Given the description of an element on the screen output the (x, y) to click on. 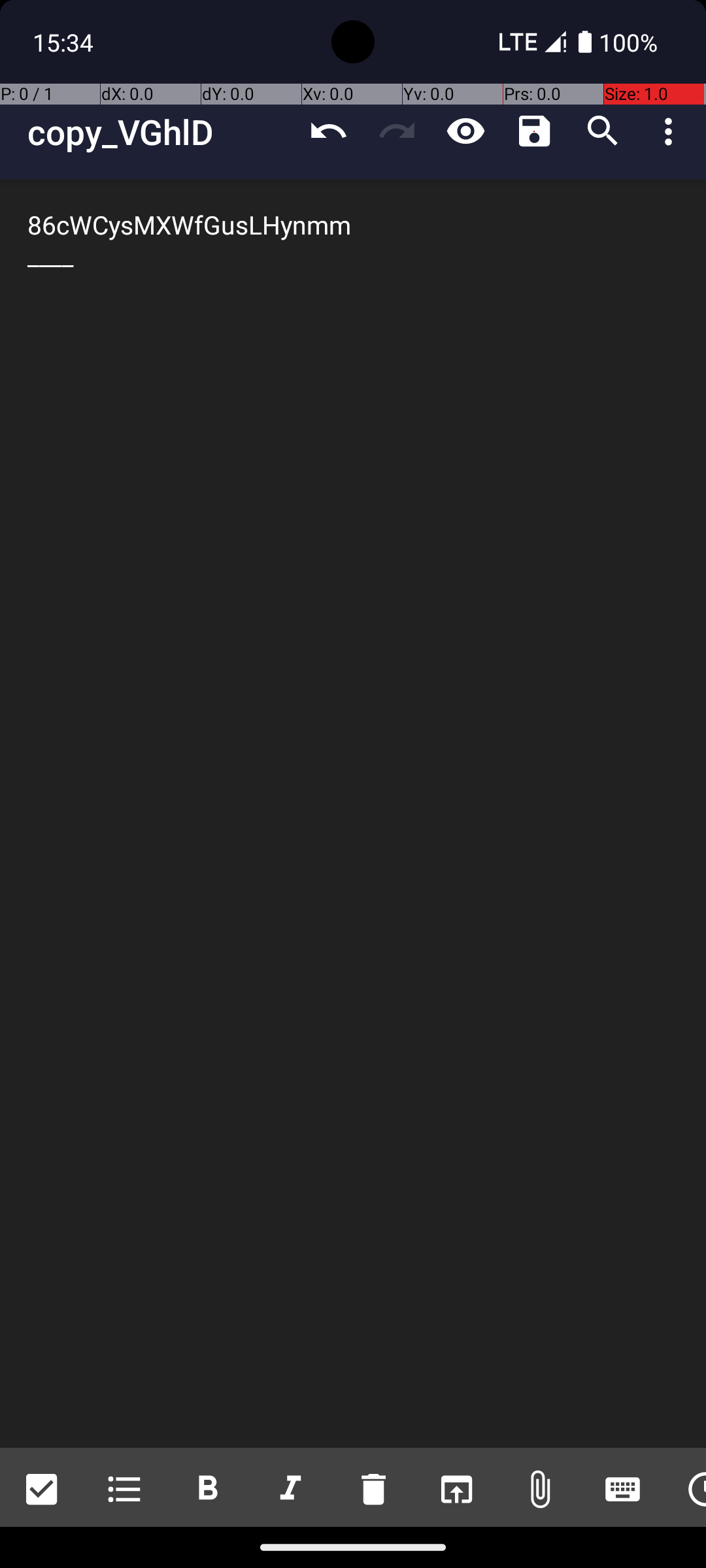
copy_VGhlD Element type: android.widget.TextView (160, 131)
86cWCysMXWfGusLHynmm
____ Element type: android.widget.EditText (353, 813)
